Given the description of an element on the screen output the (x, y) to click on. 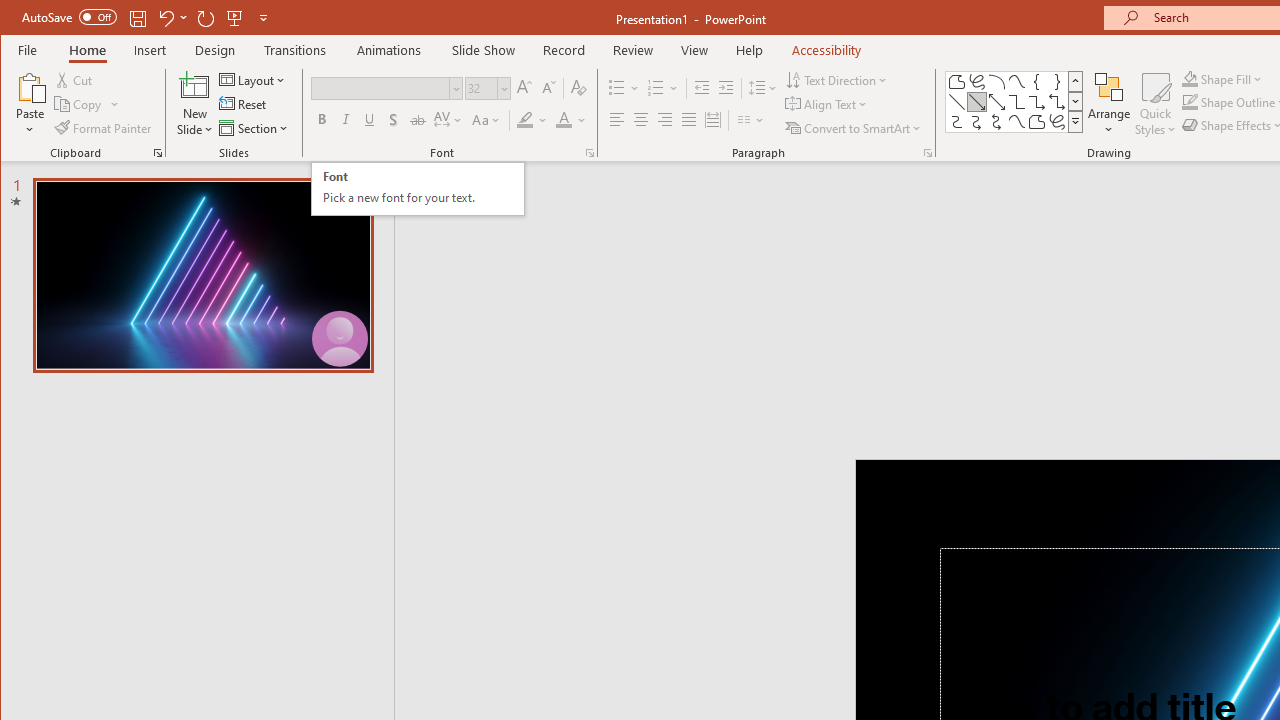
Connector: Curved Arrow (976, 121)
Connector: Curved (956, 121)
